Given the description of an element on the screen output the (x, y) to click on. 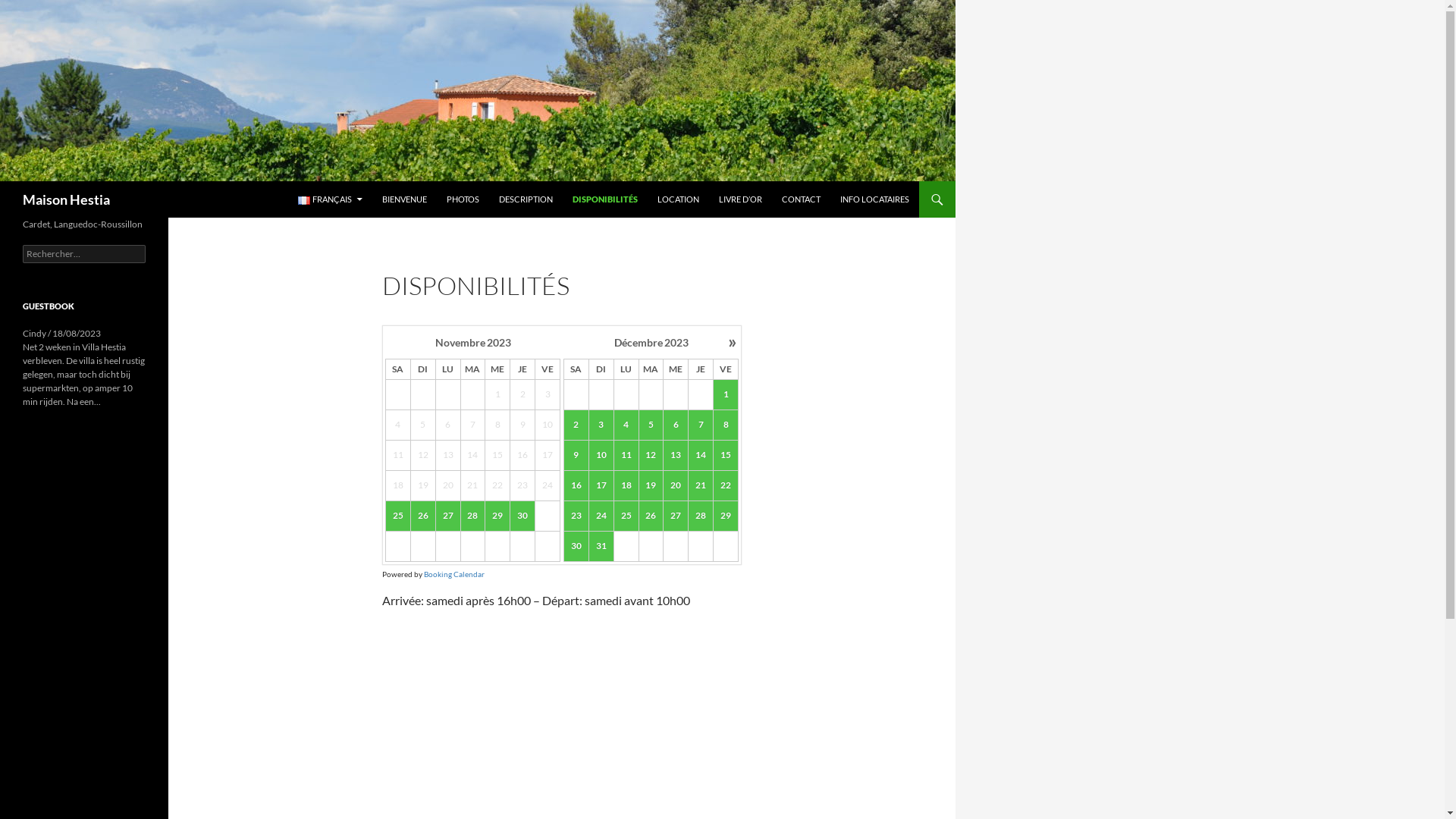
21 Element type: text (700, 485)
PHOTOS Element type: text (462, 199)
27 Element type: text (448, 515)
2 Element type: text (576, 425)
BIENVENUE Element type: text (404, 199)
29 Element type: text (497, 516)
29 Element type: text (725, 516)
26 Element type: text (650, 516)
5 Element type: text (651, 424)
ALLER AU CONTENU Element type: text (297, 180)
8 Element type: text (725, 424)
27 Element type: text (675, 516)
18 Element type: text (625, 485)
Maison Hestia Element type: text (65, 199)
14 Element type: text (700, 454)
20 Element type: text (675, 485)
28 Element type: text (700, 515)
26 Element type: text (422, 516)
24 Element type: text (601, 515)
17 Element type: text (600, 485)
28 Element type: text (700, 516)
CONTACT Element type: text (800, 199)
3 Element type: text (600, 425)
3 Element type: text (601, 424)
6 Element type: text (675, 424)
10 Element type: text (601, 454)
25 Element type: text (397, 515)
27 Element type: text (447, 516)
30 Element type: text (522, 516)
23 Element type: text (576, 515)
26 Element type: text (651, 515)
29 Element type: text (725, 515)
12 Element type: text (651, 454)
22 Element type: text (725, 485)
7 Element type: text (700, 425)
9 Element type: text (576, 454)
4 Element type: text (625, 425)
25 Element type: text (397, 516)
Rechercher Element type: text (41, 9)
26 Element type: text (423, 515)
24 Element type: text (600, 516)
LOCATION Element type: text (678, 199)
15 Element type: text (725, 454)
11 Element type: text (625, 455)
17 Element type: text (601, 485)
30 Element type: text (576, 545)
Recherche Element type: text (3, 180)
5 Element type: text (650, 425)
19 Element type: text (650, 485)
30 Element type: text (522, 515)
18 Element type: text (626, 485)
15 Element type: text (725, 455)
2 Element type: text (576, 424)
4 Element type: text (626, 424)
13 Element type: text (675, 454)
23 Element type: text (576, 516)
22 Element type: text (725, 485)
Booking Calendar Element type: text (453, 573)
25 Element type: text (626, 515)
9 Element type: text (576, 455)
13 Element type: text (675, 455)
DESCRIPTION Element type: text (525, 199)
11 Element type: text (626, 454)
1 Element type: text (725, 394)
21 Element type: text (700, 485)
31 Element type: text (600, 546)
1 Element type: text (725, 394)
7 Element type: text (700, 424)
31 Element type: text (601, 545)
12 Element type: text (650, 455)
27 Element type: text (675, 515)
30 Element type: text (576, 546)
20 Element type: text (675, 485)
8 Element type: text (725, 425)
19 Element type: text (651, 485)
16 Element type: text (576, 485)
25 Element type: text (625, 516)
28 Element type: text (473, 515)
6 Element type: text (675, 425)
29 Element type: text (497, 515)
INFO LOCATAIRES Element type: text (874, 199)
16 Element type: text (576, 485)
10 Element type: text (600, 455)
14 Element type: text (700, 455)
28 Element type: text (472, 516)
